Given the description of an element on the screen output the (x, y) to click on. 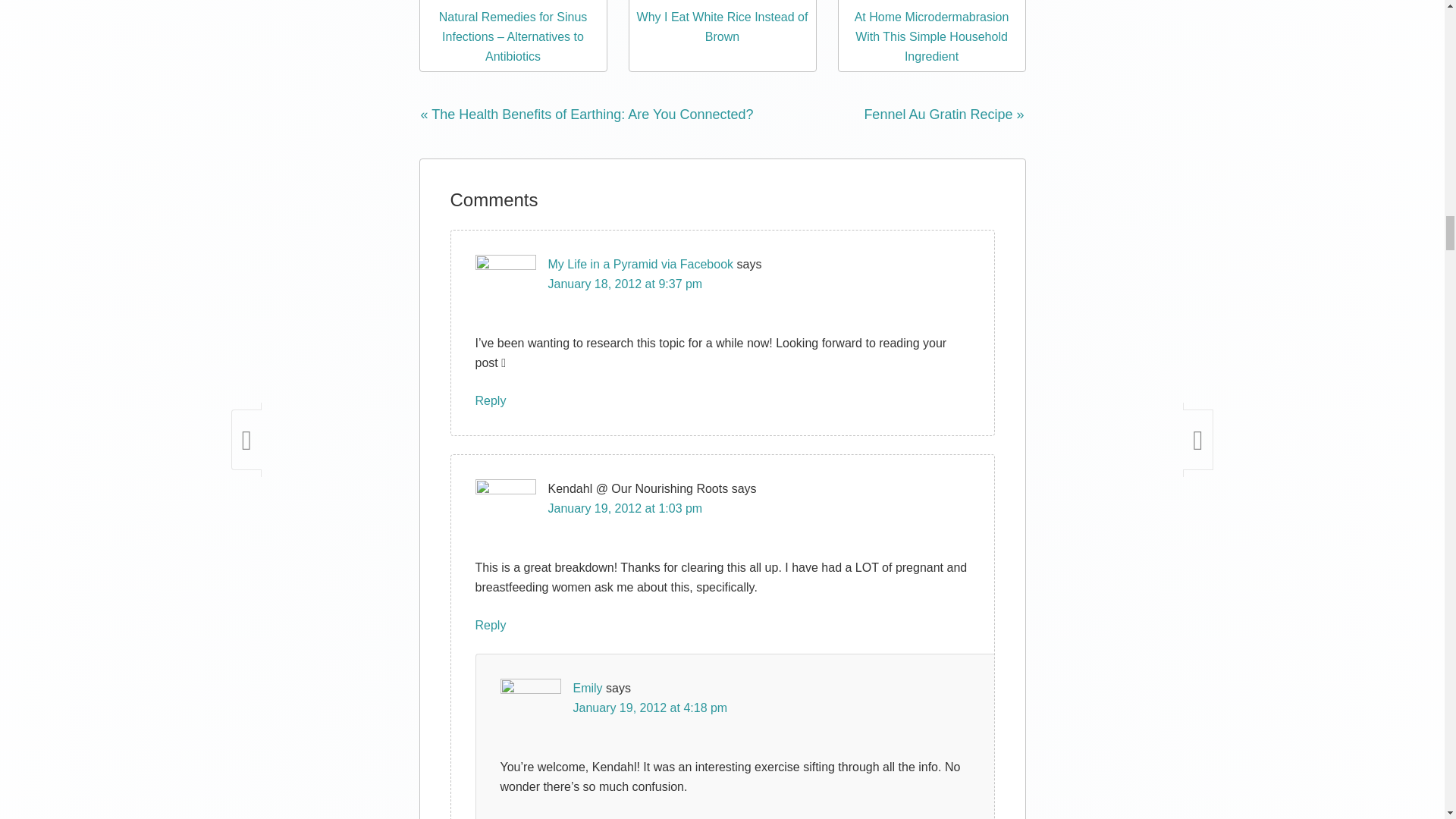
Why I Eat White Rice Instead of Brown (721, 26)
Why I Eat White Rice Instead of Brown (721, 1)
